Given the description of an element on the screen output the (x, y) to click on. 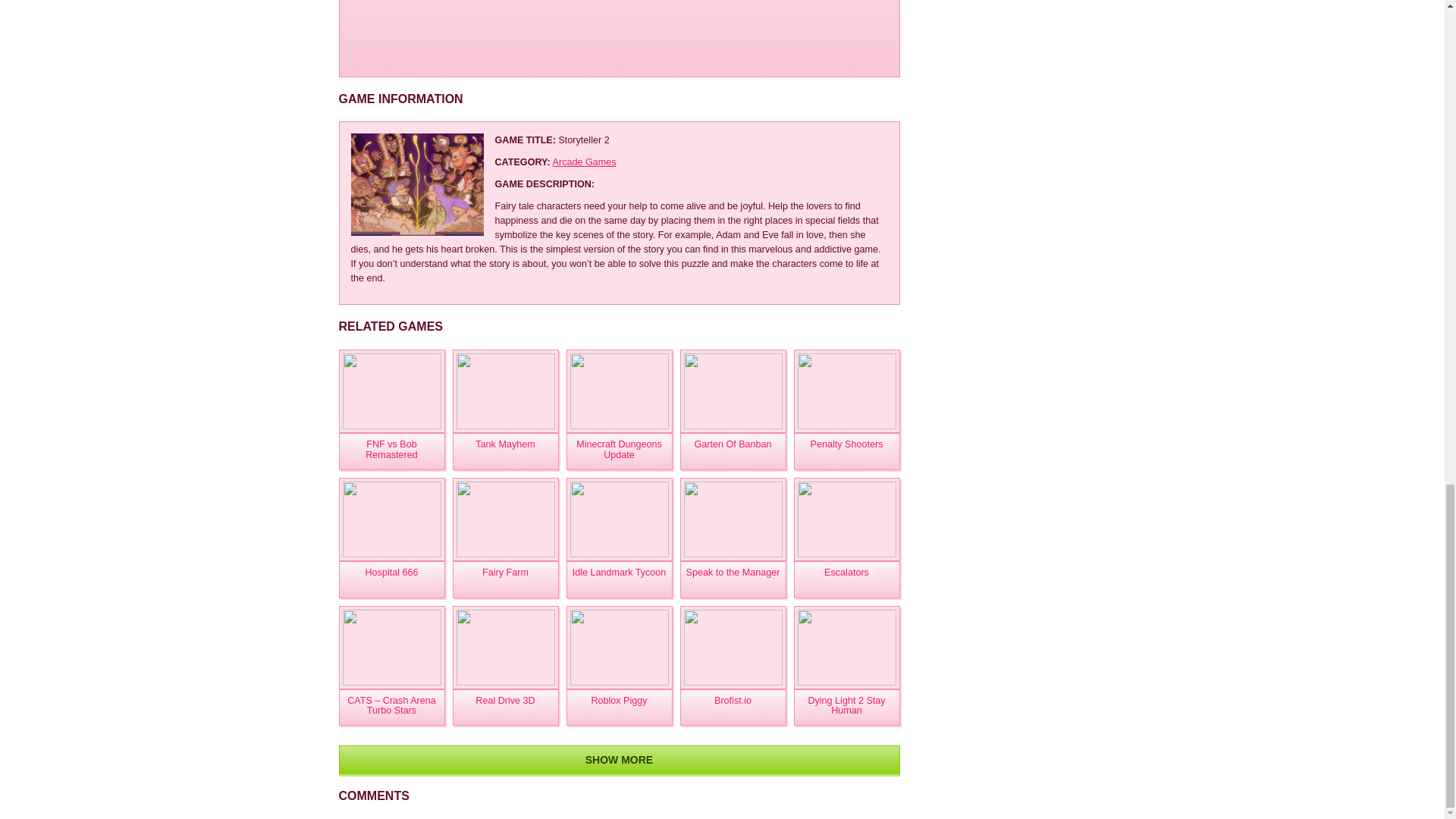
Idle Landmark Tycoon (618, 579)
Fairy Farm (504, 579)
Tank Mayhem (504, 391)
Tank Mayhem (504, 451)
Penalty Shooters (846, 451)
Penalty Shooters (846, 451)
Garten Of Banban (732, 451)
Tank Mayhem (504, 451)
Hospital 666 (390, 579)
Arcade Games (584, 162)
